Given the description of an element on the screen output the (x, y) to click on. 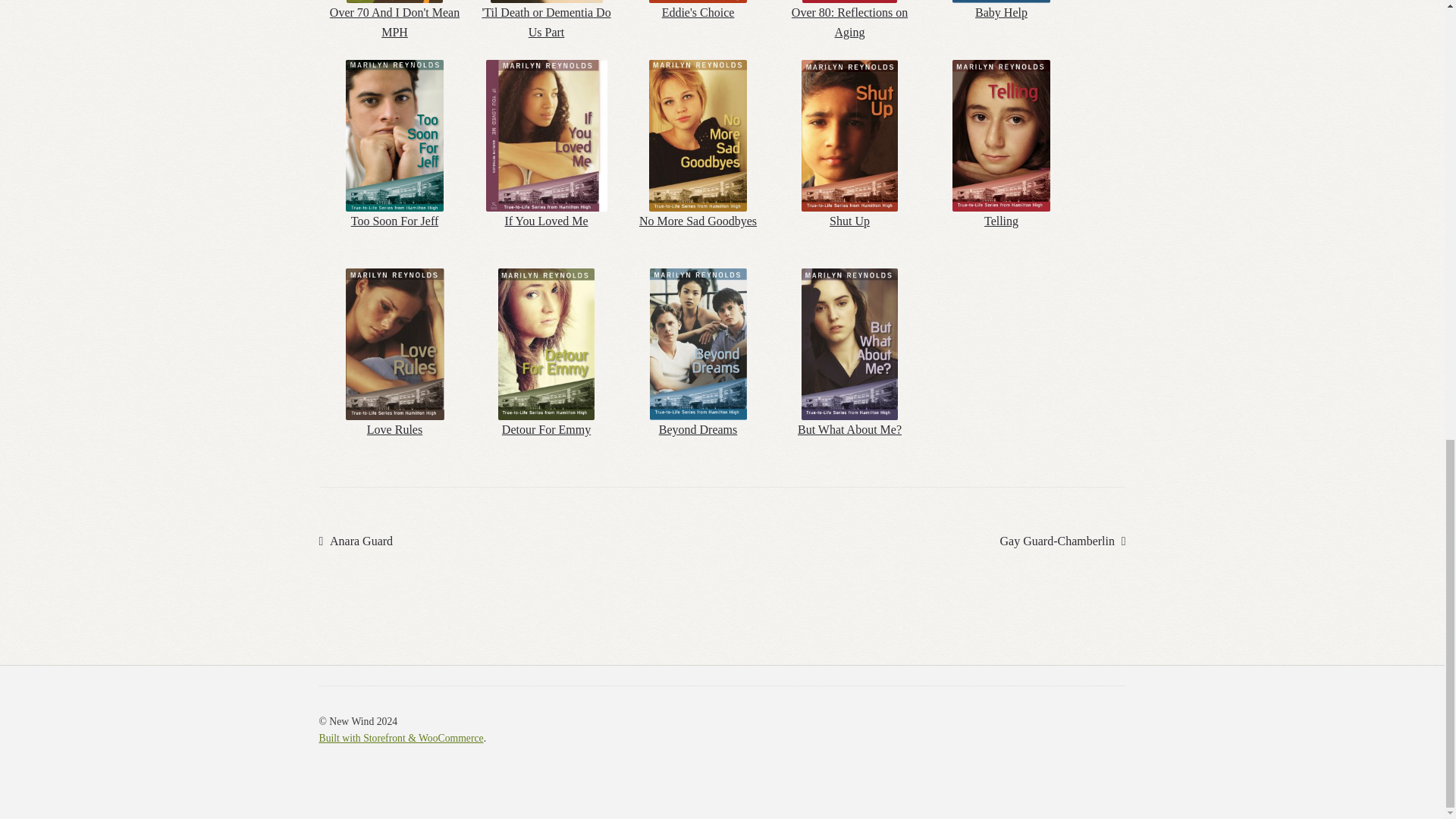
WooCommerce - The Best eCommerce Platform for WordPress (400, 737)
